Given the description of an element on the screen output the (x, y) to click on. 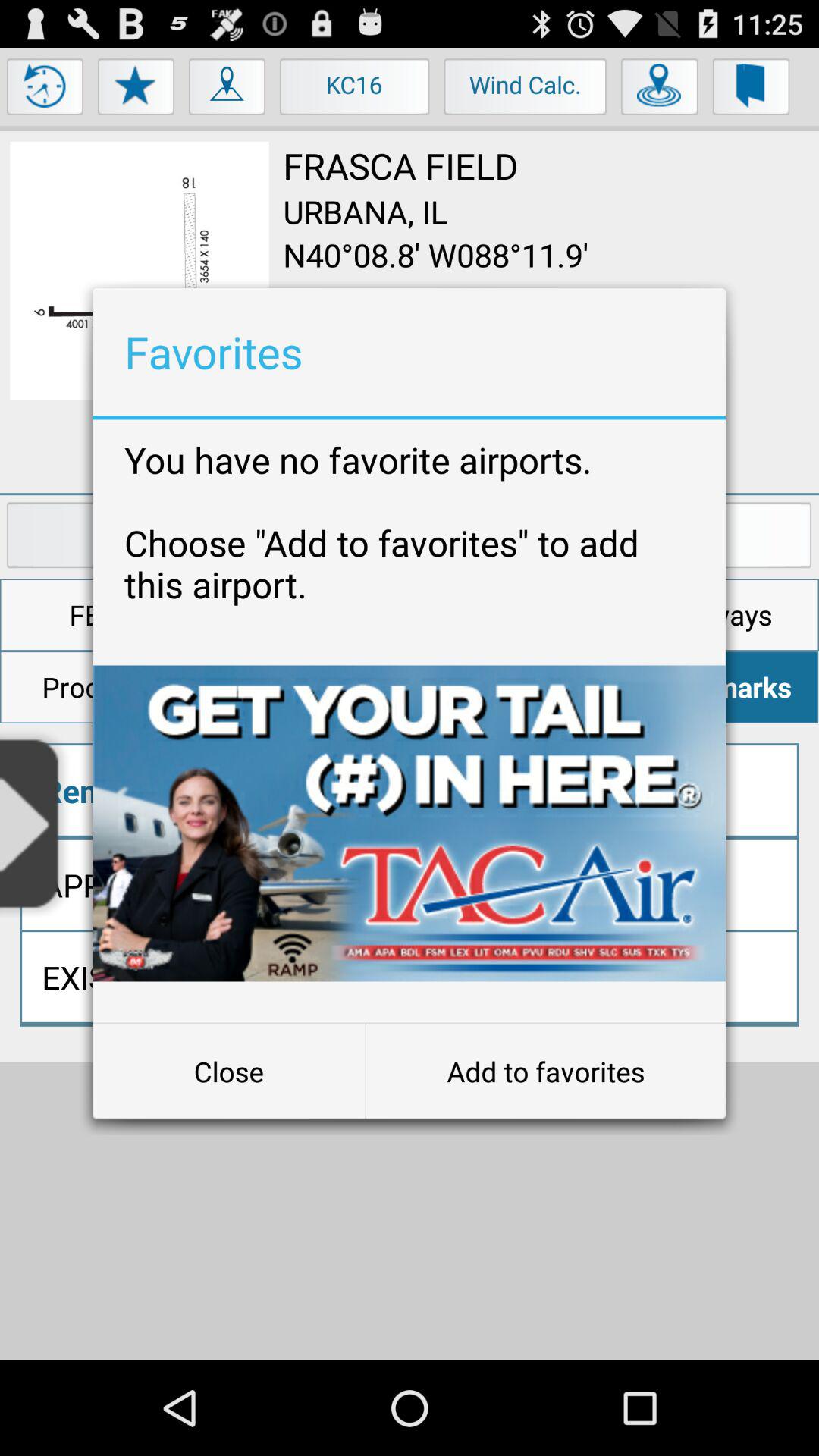
view advertisement (408, 823)
